Given the description of an element on the screen output the (x, y) to click on. 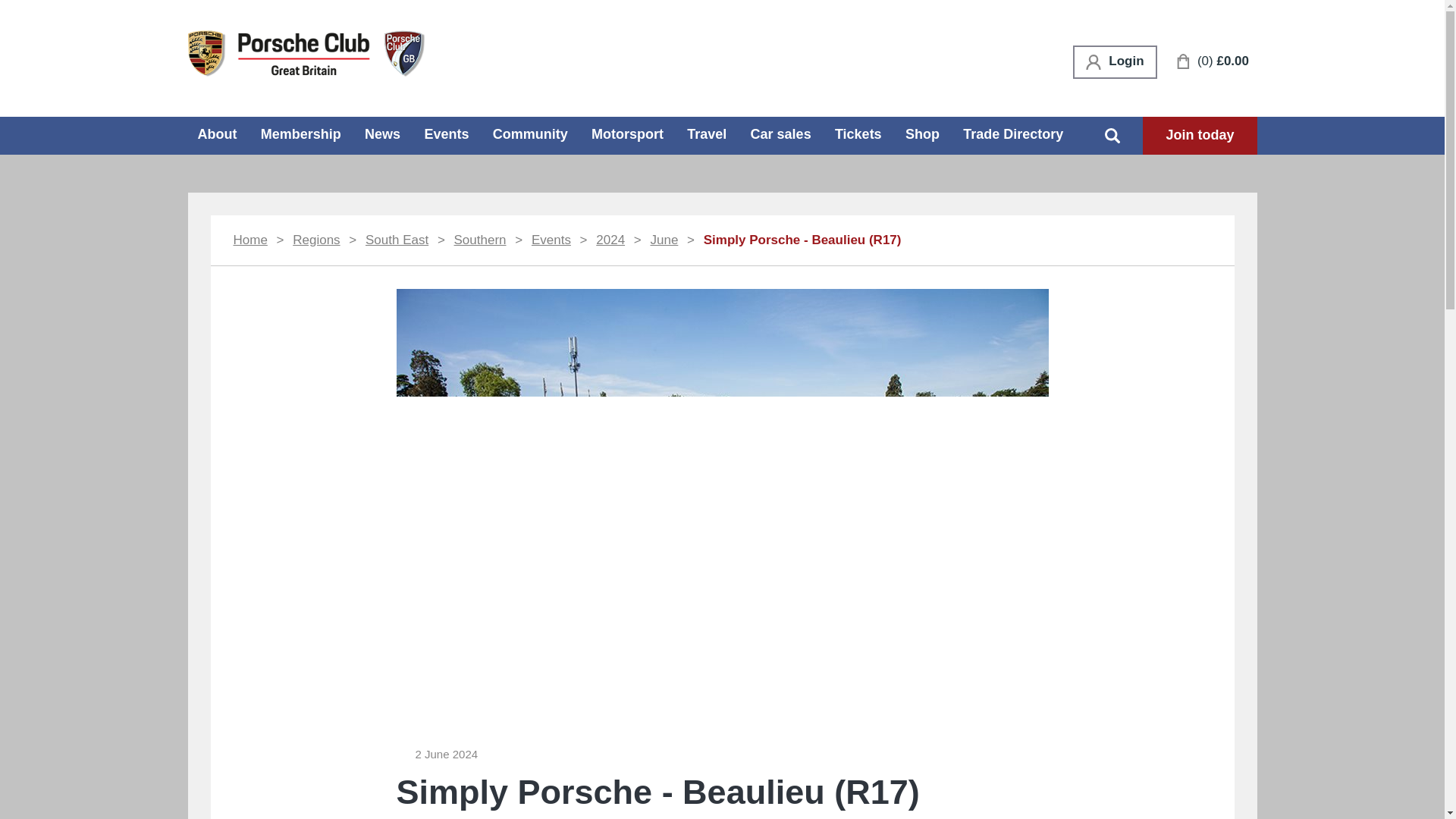
Membership (301, 133)
Porsche Club Great Britain (306, 52)
News (382, 133)
View your shopping basket (1212, 60)
Membership (301, 133)
The heart of Porsche ownership and enjoyment in the UK (306, 53)
About (217, 133)
About (217, 133)
Sign in (1114, 61)
